Given the description of an element on the screen output the (x, y) to click on. 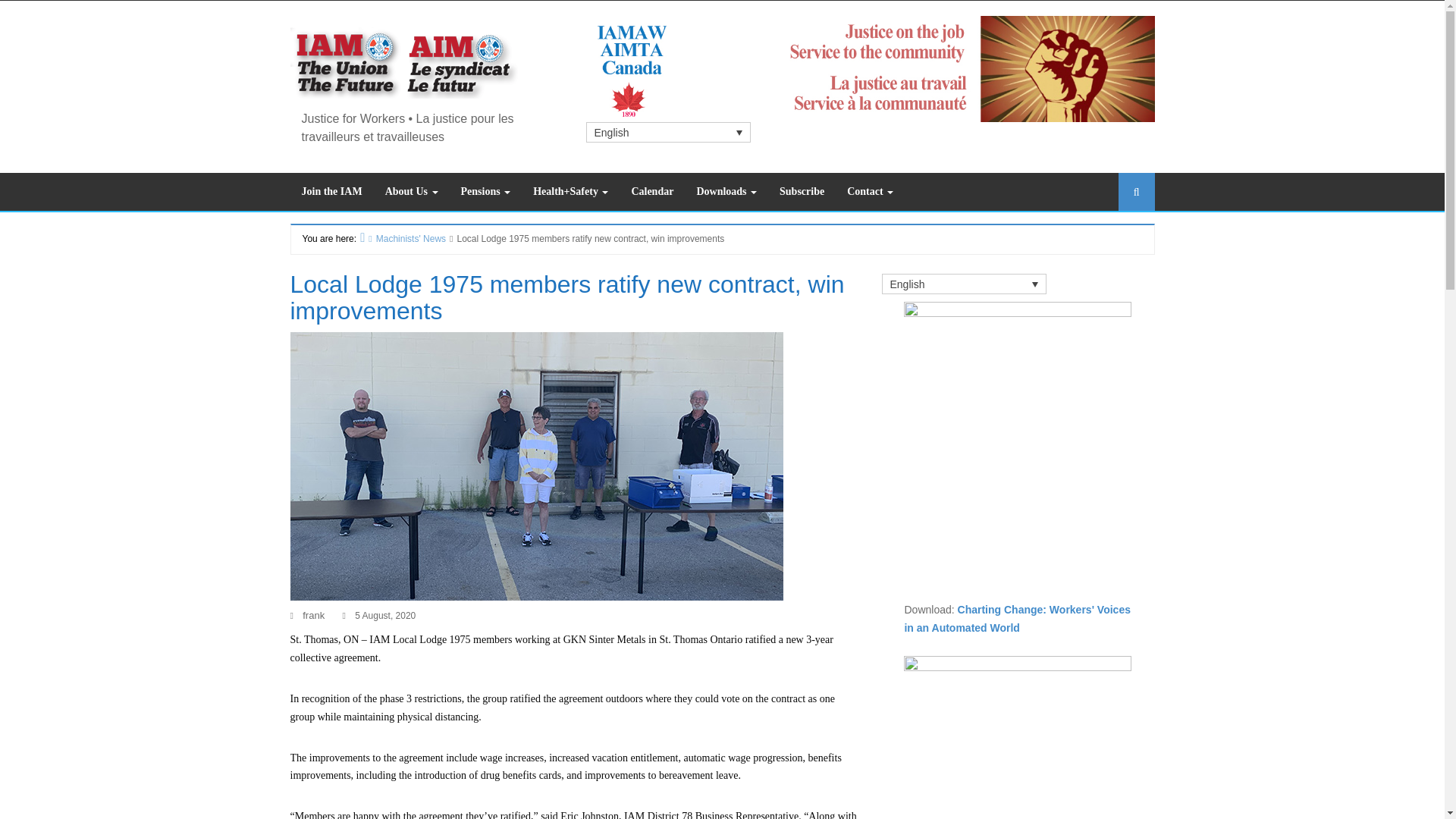
Subscribe (801, 191)
Pensions (485, 191)
English (667, 132)
Downloads (726, 191)
Calendar (652, 191)
Join the IAM (330, 191)
Join the IAM (330, 191)
Contact (869, 191)
Machinists' News (405, 238)
About Us (411, 191)
